Given the description of an element on the screen output the (x, y) to click on. 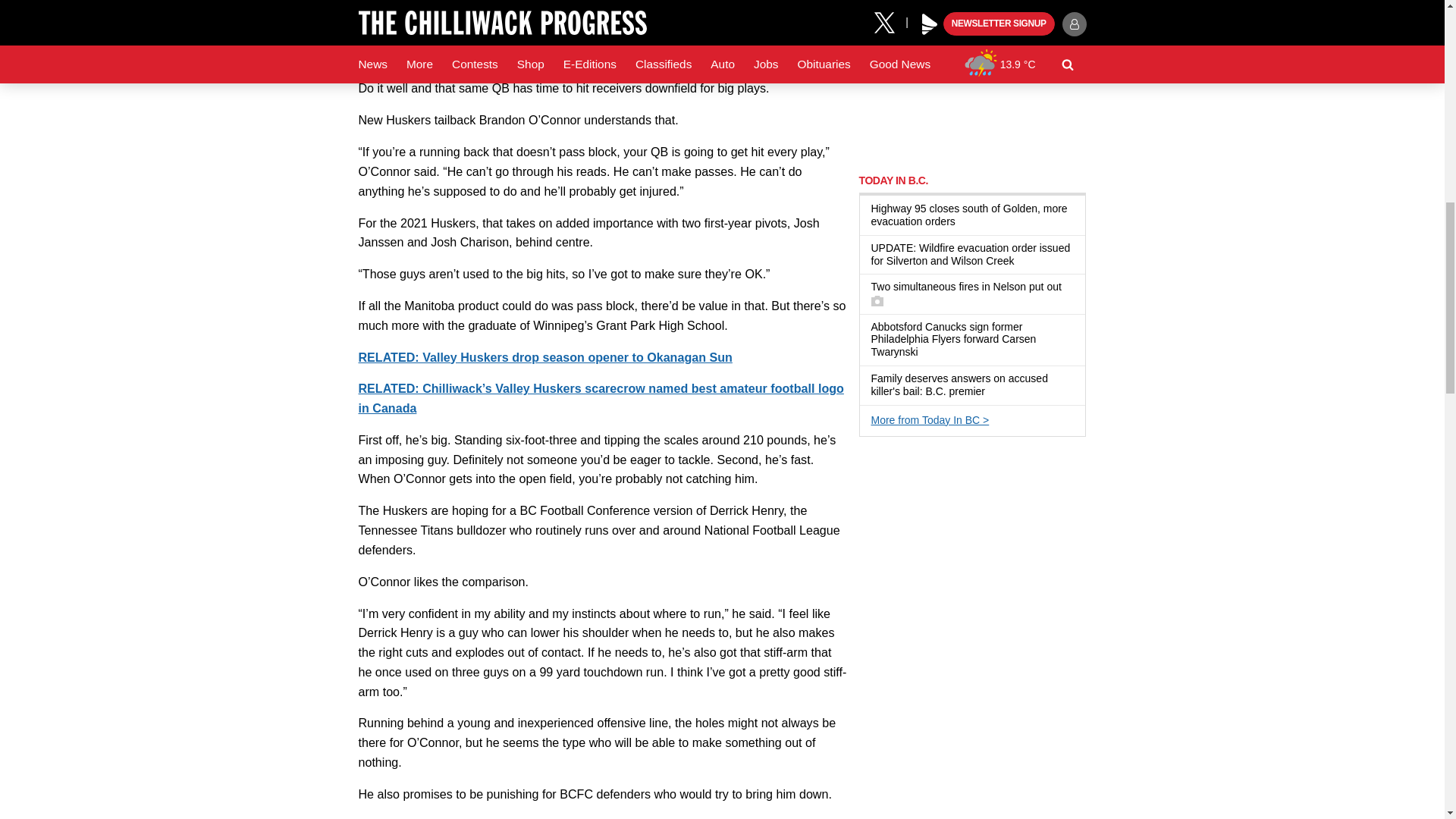
Has a gallery (876, 300)
